Given the description of an element on the screen output the (x, y) to click on. 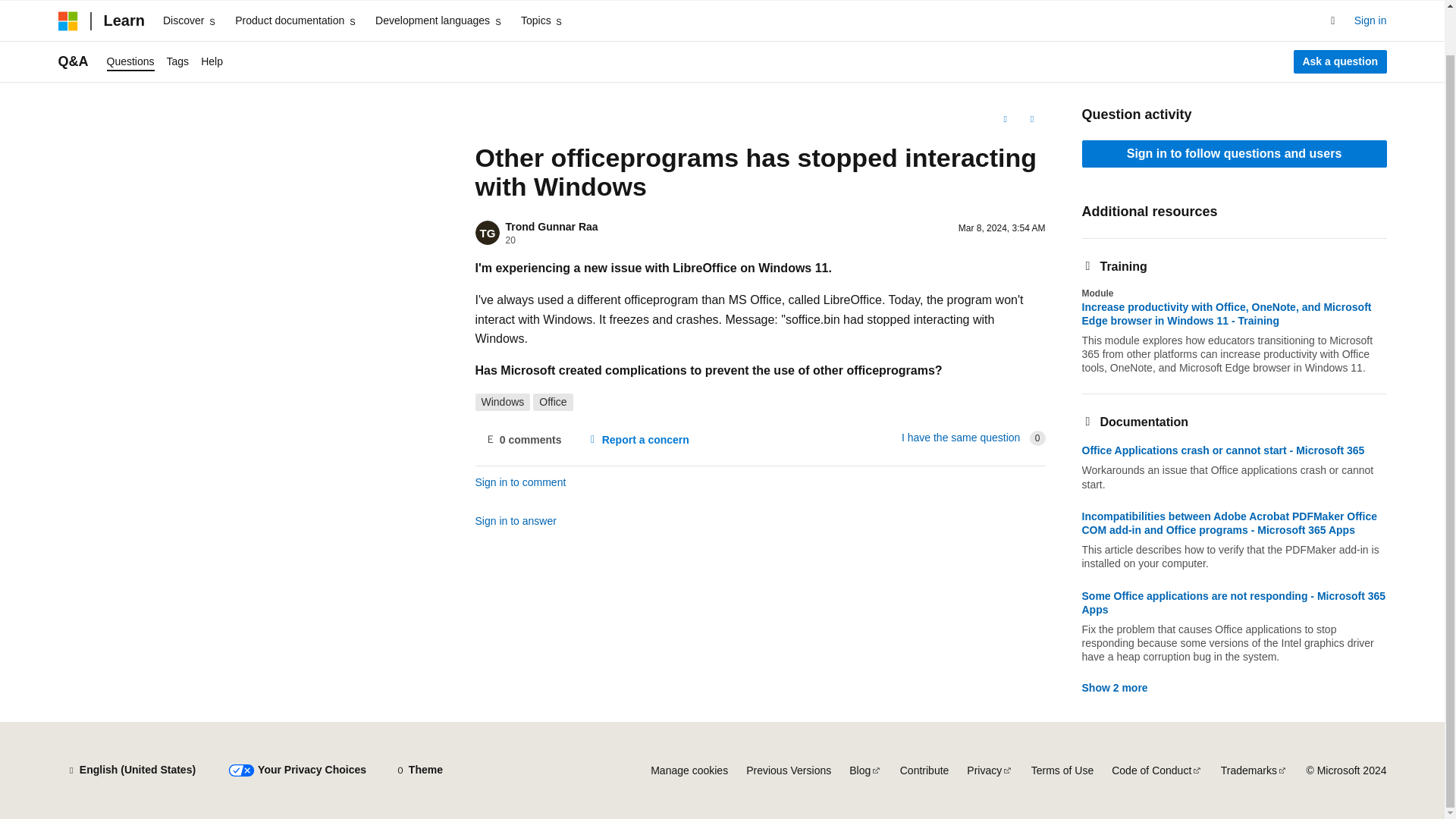
Topics (542, 20)
You have the same or similar question (960, 437)
Discover (189, 20)
Trond Gunnar Raa (550, 226)
Development languages (438, 20)
Learn (123, 20)
Share this question (1031, 119)
Ask a question (1340, 61)
Reputation points (510, 240)
Sign in (1370, 21)
